Given the description of an element on the screen output the (x, y) to click on. 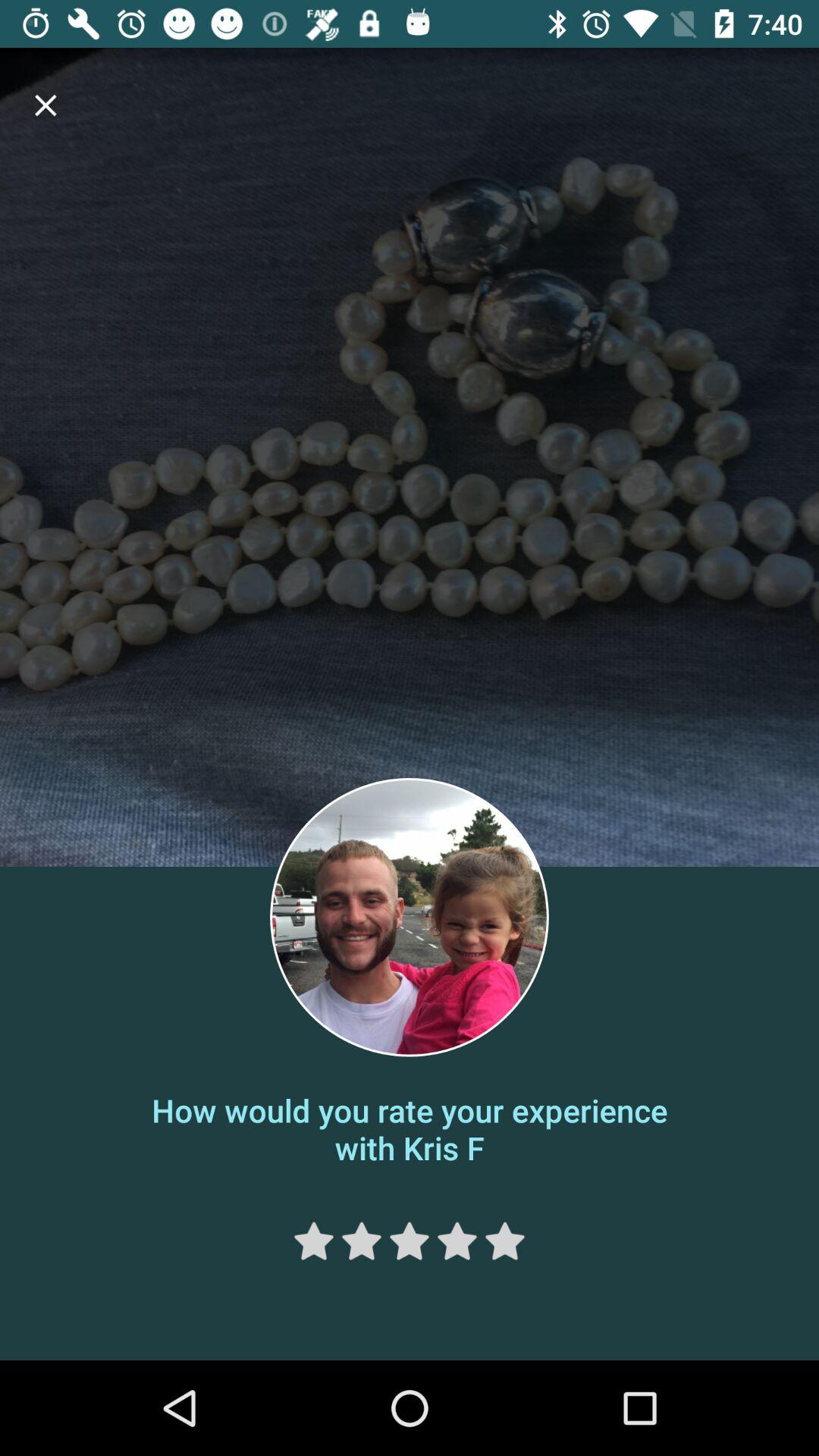
rate 4 stars (457, 1240)
